Given the description of an element on the screen output the (x, y) to click on. 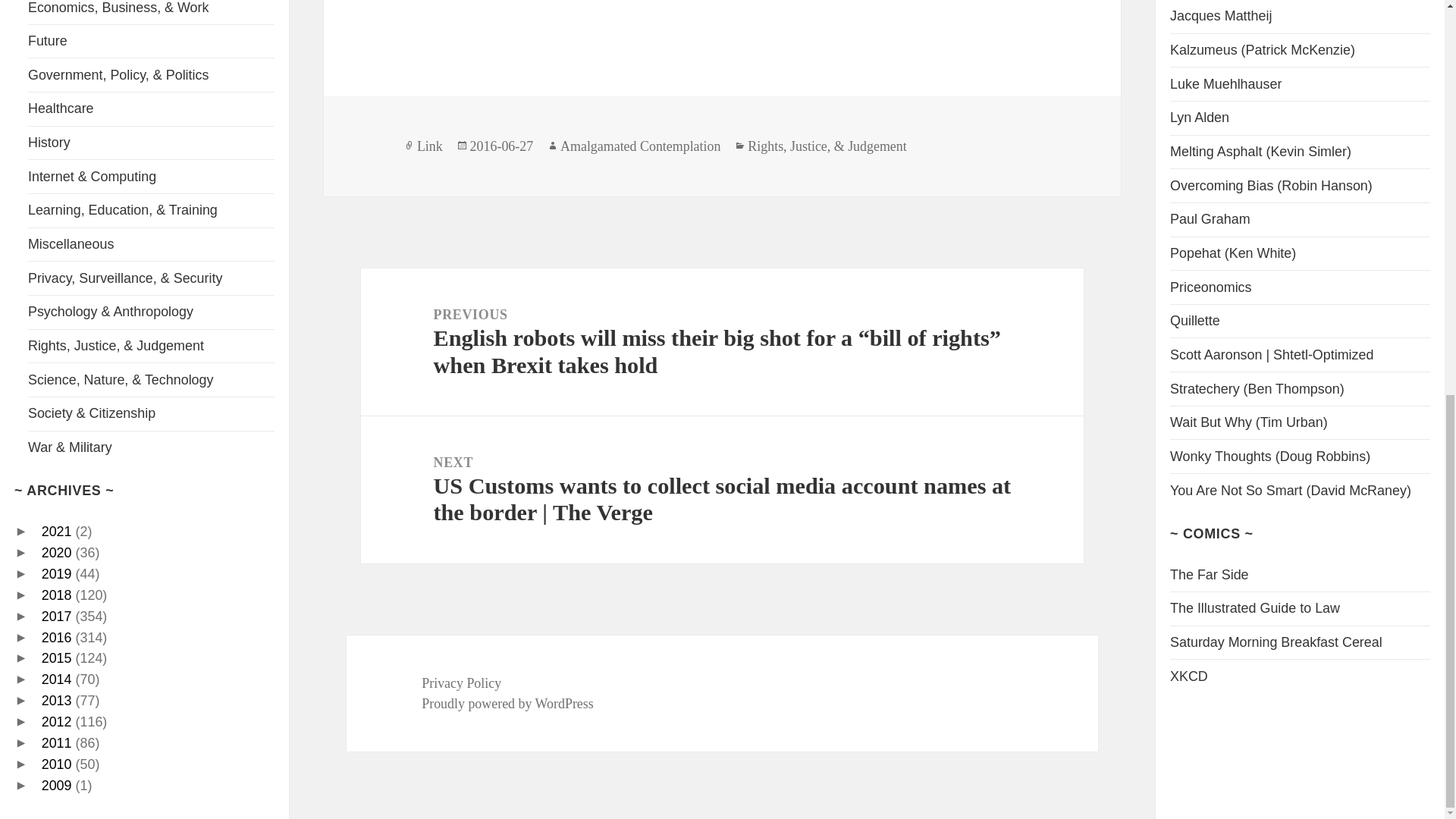
Healthcare (60, 108)
History (48, 142)
Future (46, 40)
Miscellaneous (70, 243)
